Given the description of an element on the screen output the (x, y) to click on. 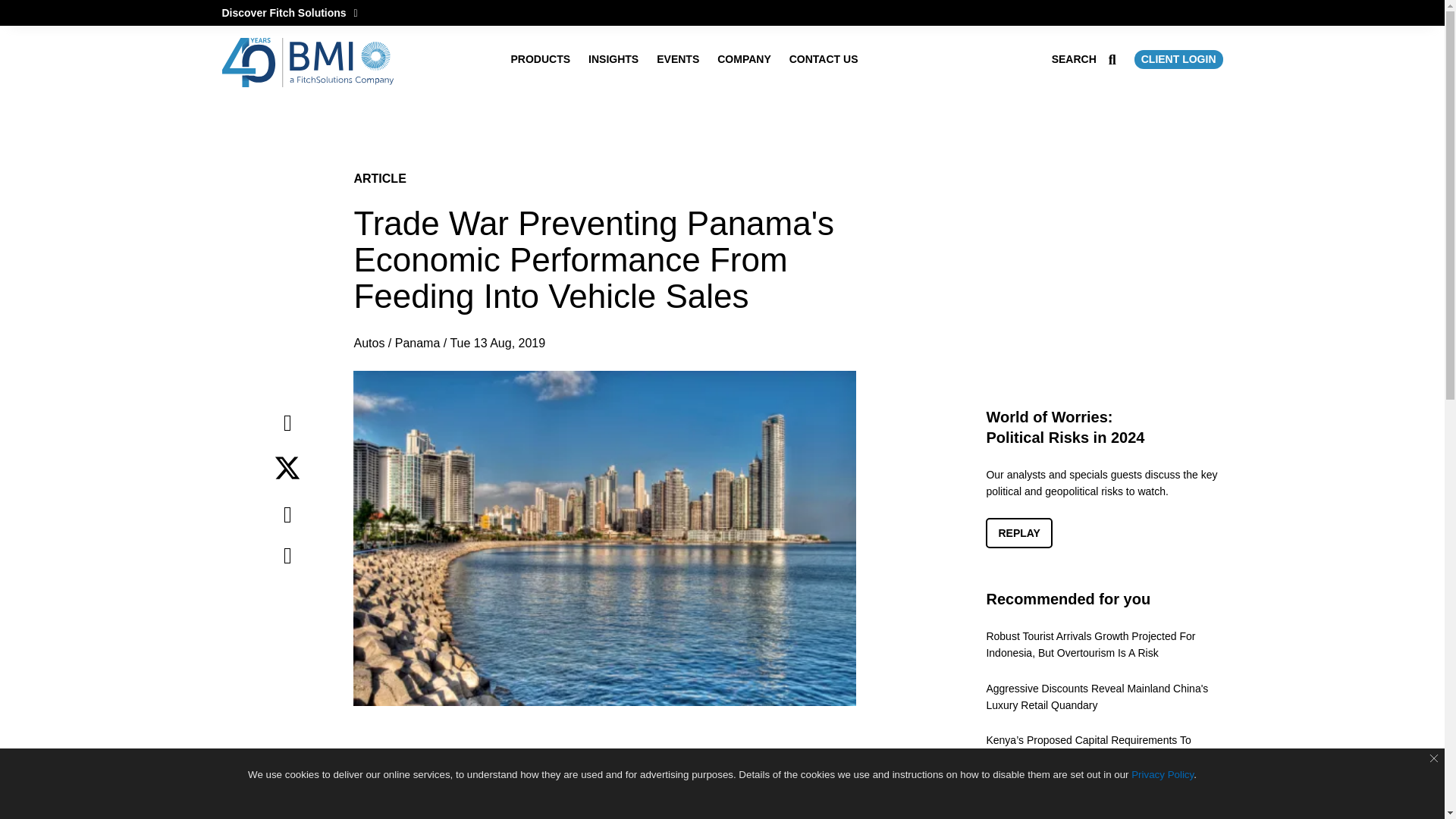
Recovering Tourism And Wages Will Drive Sri Lanka's Growth (1104, 799)
Autos (368, 342)
SEARCH (1083, 59)
REPLAY (1018, 532)
ARTICLE (379, 178)
Panama (417, 342)
EVENTS (677, 59)
CONTACT US (824, 59)
